Given the description of an element on the screen output the (x, y) to click on. 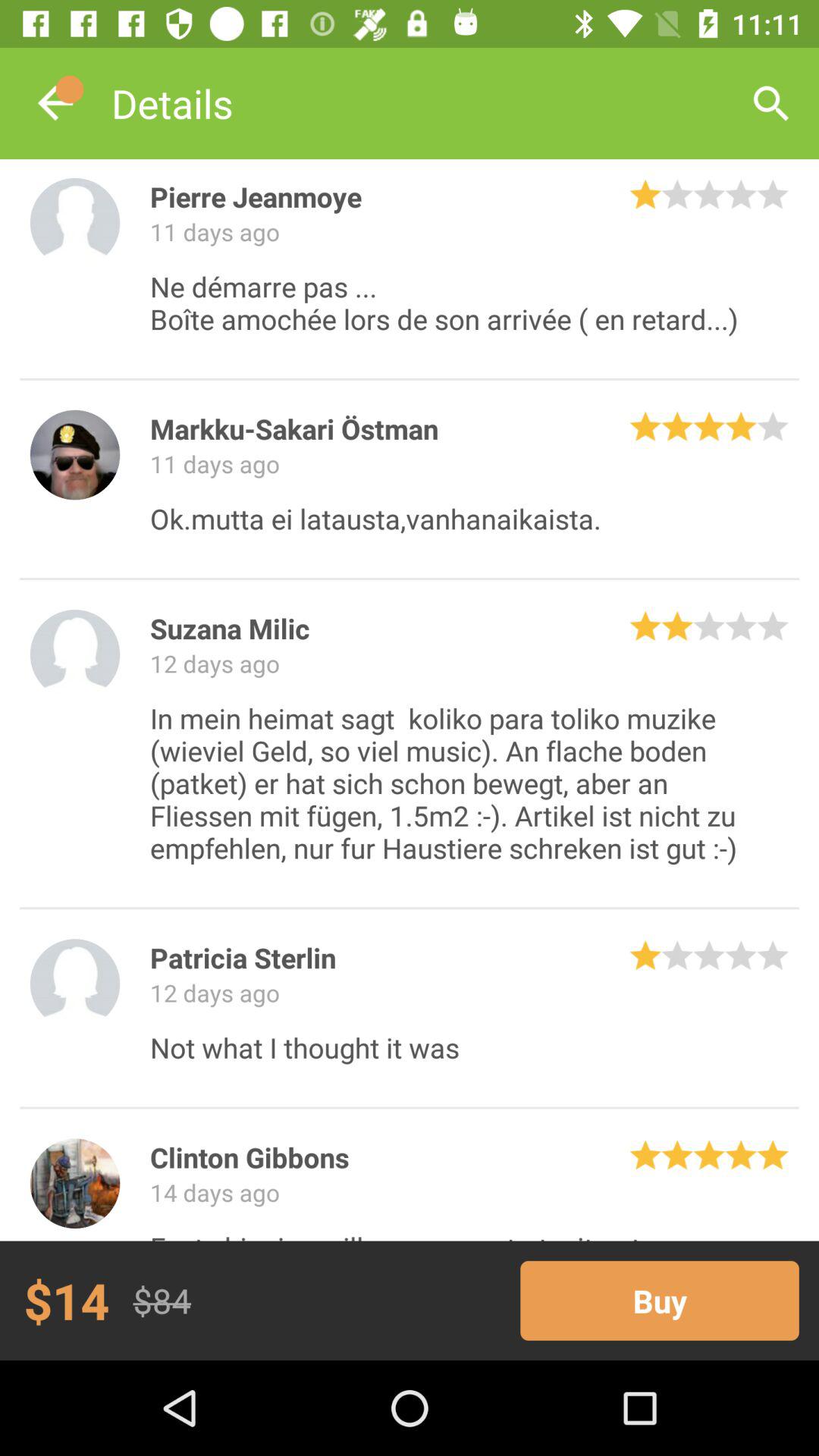
tap the icon next to $84 item (659, 1300)
